Given the description of an element on the screen output the (x, y) to click on. 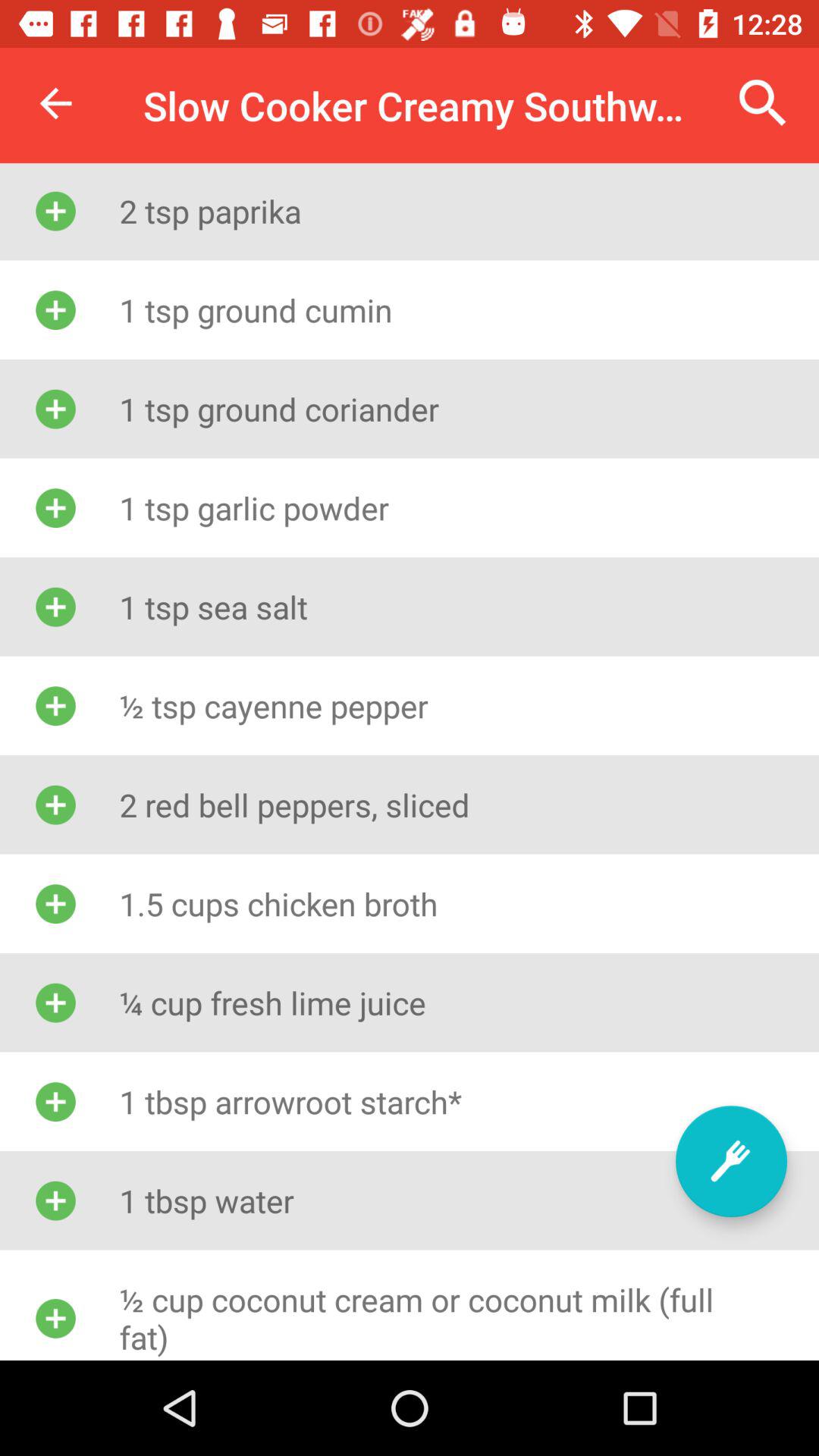
turn on the item to the left of the slow cooker creamy item (55, 103)
